Given the description of an element on the screen output the (x, y) to click on. 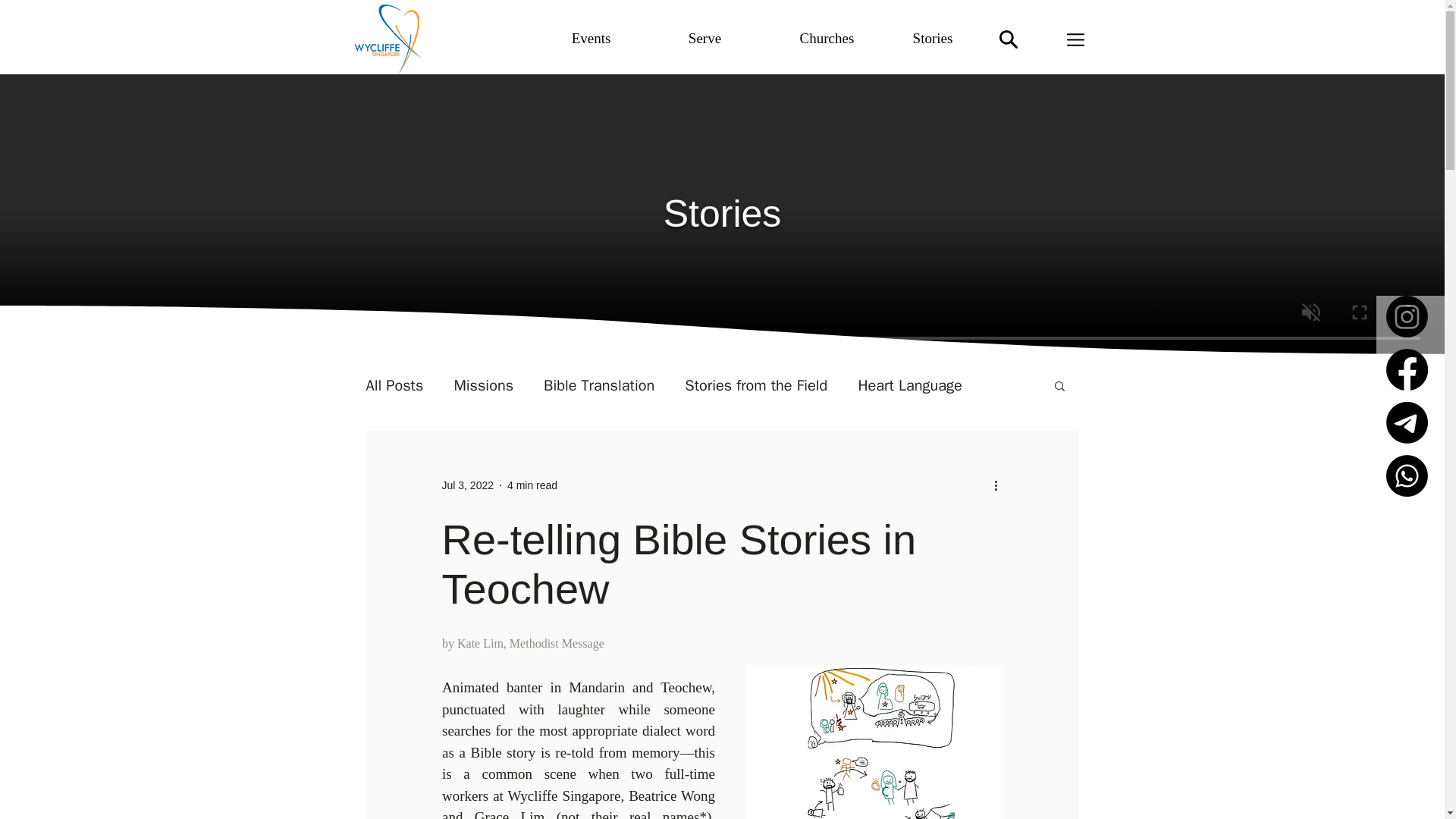
Churches (827, 39)
Jul 3, 2022 (467, 485)
All Posts (394, 384)
Events (591, 39)
Heart Language (908, 384)
4 min read (531, 485)
Bible Translation (598, 384)
Stories (933, 39)
Stories from the Field (755, 384)
Missions (482, 384)
Serve (704, 39)
